Given the description of an element on the screen output the (x, y) to click on. 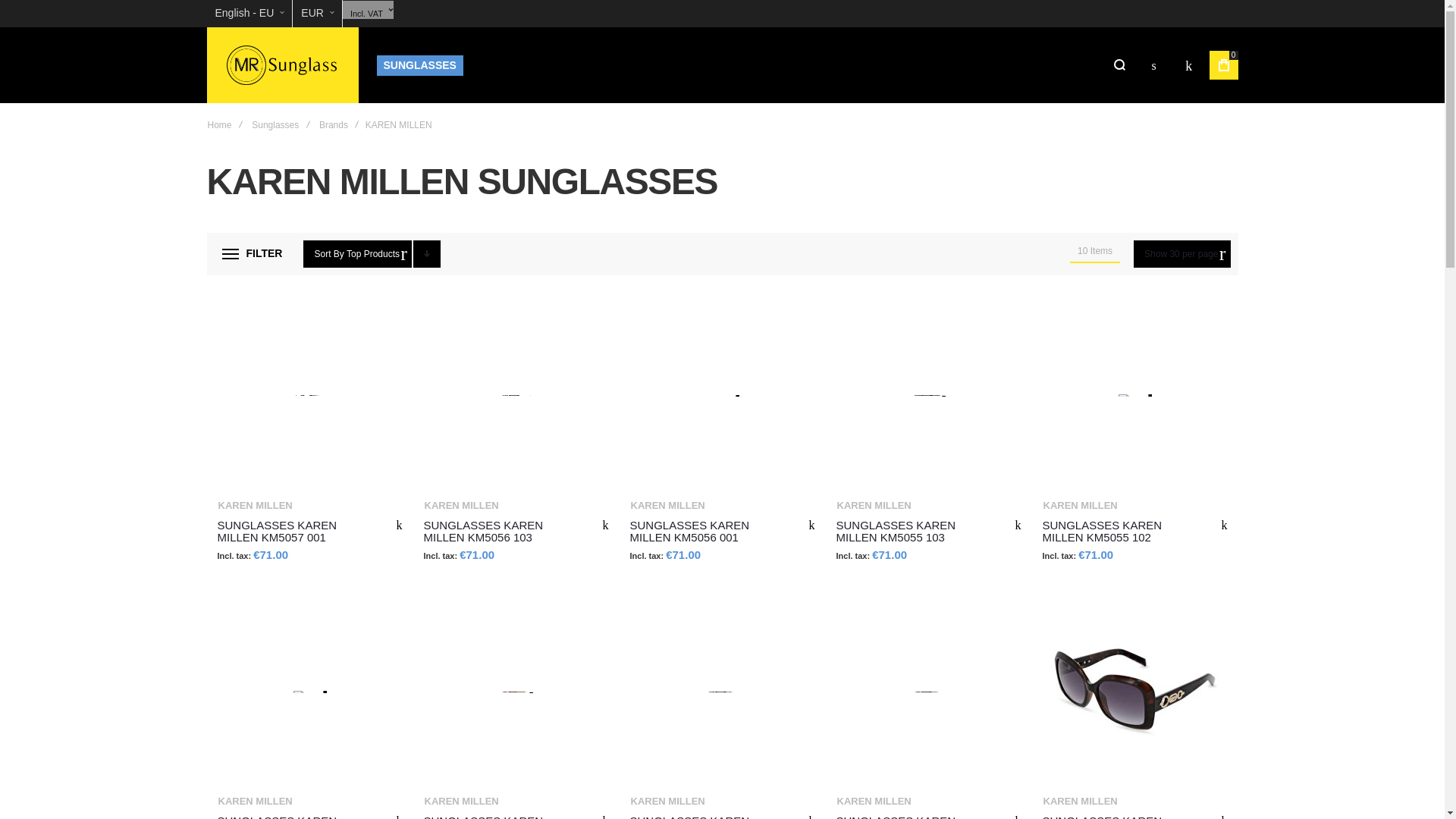
SUNGLASSES (419, 64)
Go to Home Page (219, 124)
MR Sunglass (282, 65)
Add to Wish List (399, 815)
Set Ascending Direction (427, 253)
GLASSES (499, 64)
